Given the description of an element on the screen output the (x, y) to click on. 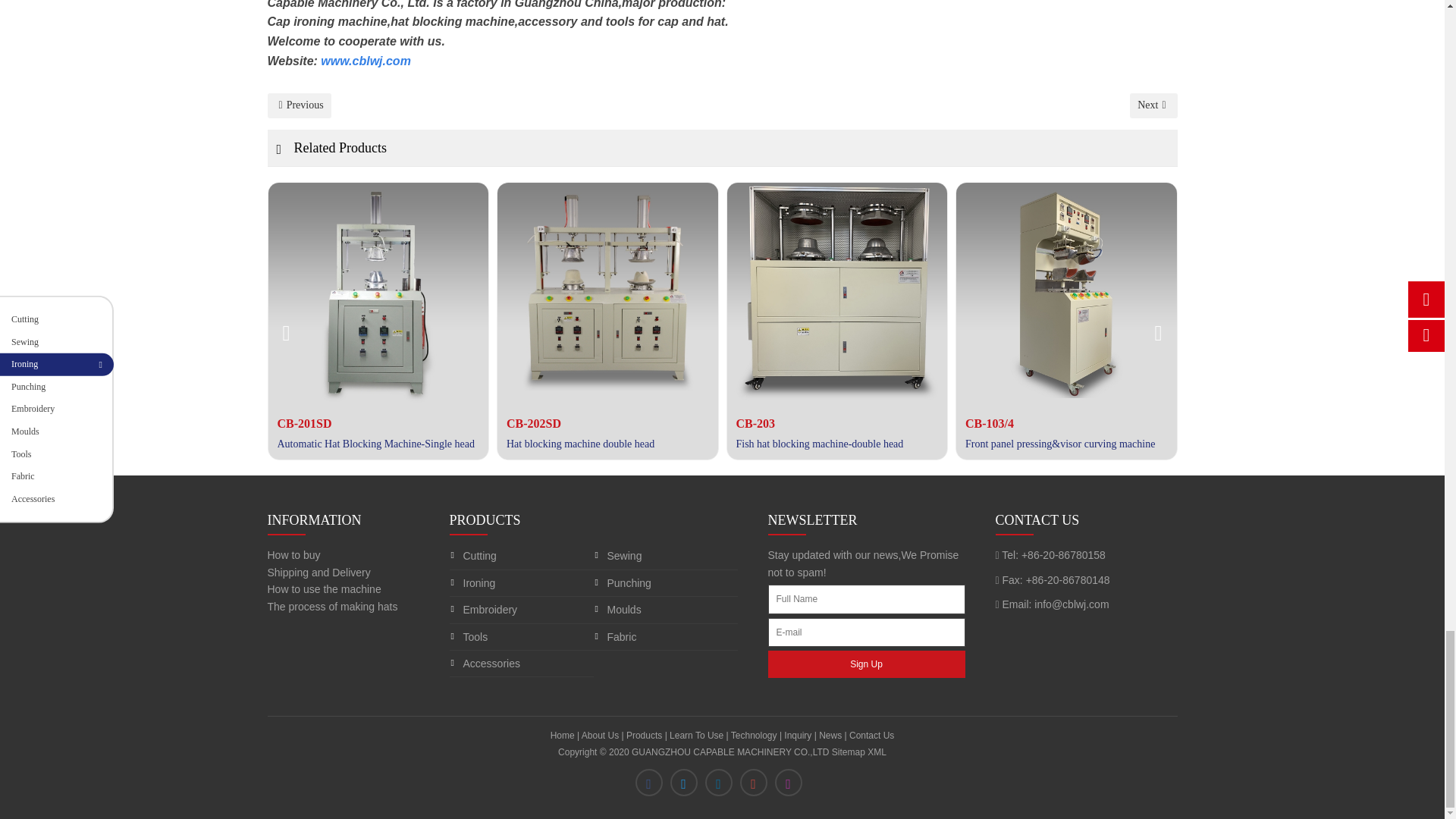
linkedin (721, 788)
Twitter (686, 788)
Instagram (791, 788)
Youtube (756, 788)
Facebook (651, 788)
